Given the description of an element on the screen output the (x, y) to click on. 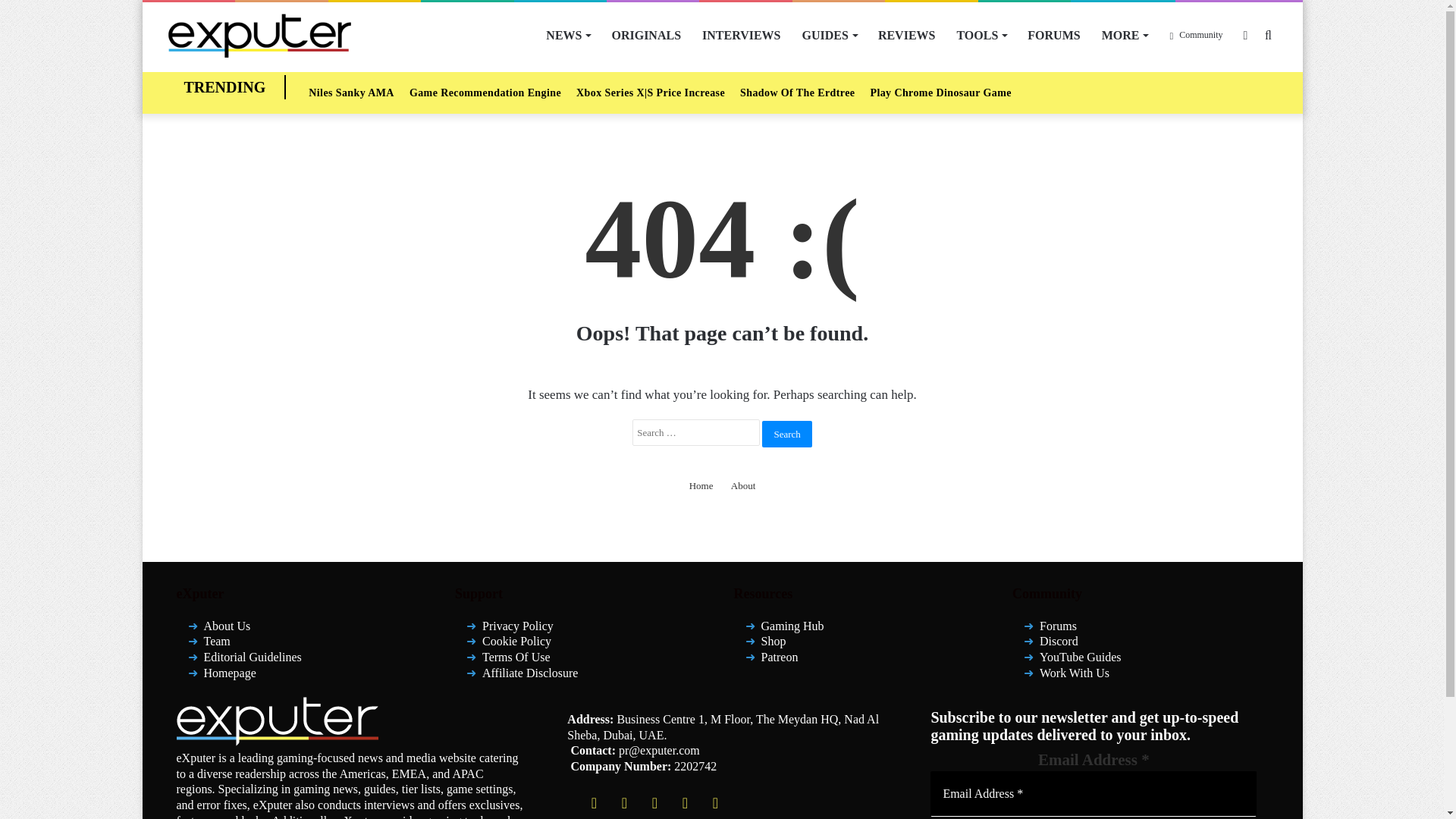
MORE (1124, 35)
REVIEWS (906, 35)
INTERVIEWS (740, 35)
ORIGINALS (645, 35)
Email Address (1093, 793)
NEWS (567, 35)
Search (785, 433)
TOOLS (980, 35)
FORUMS (1053, 35)
Search (785, 433)
